Given the description of an element on the screen output the (x, y) to click on. 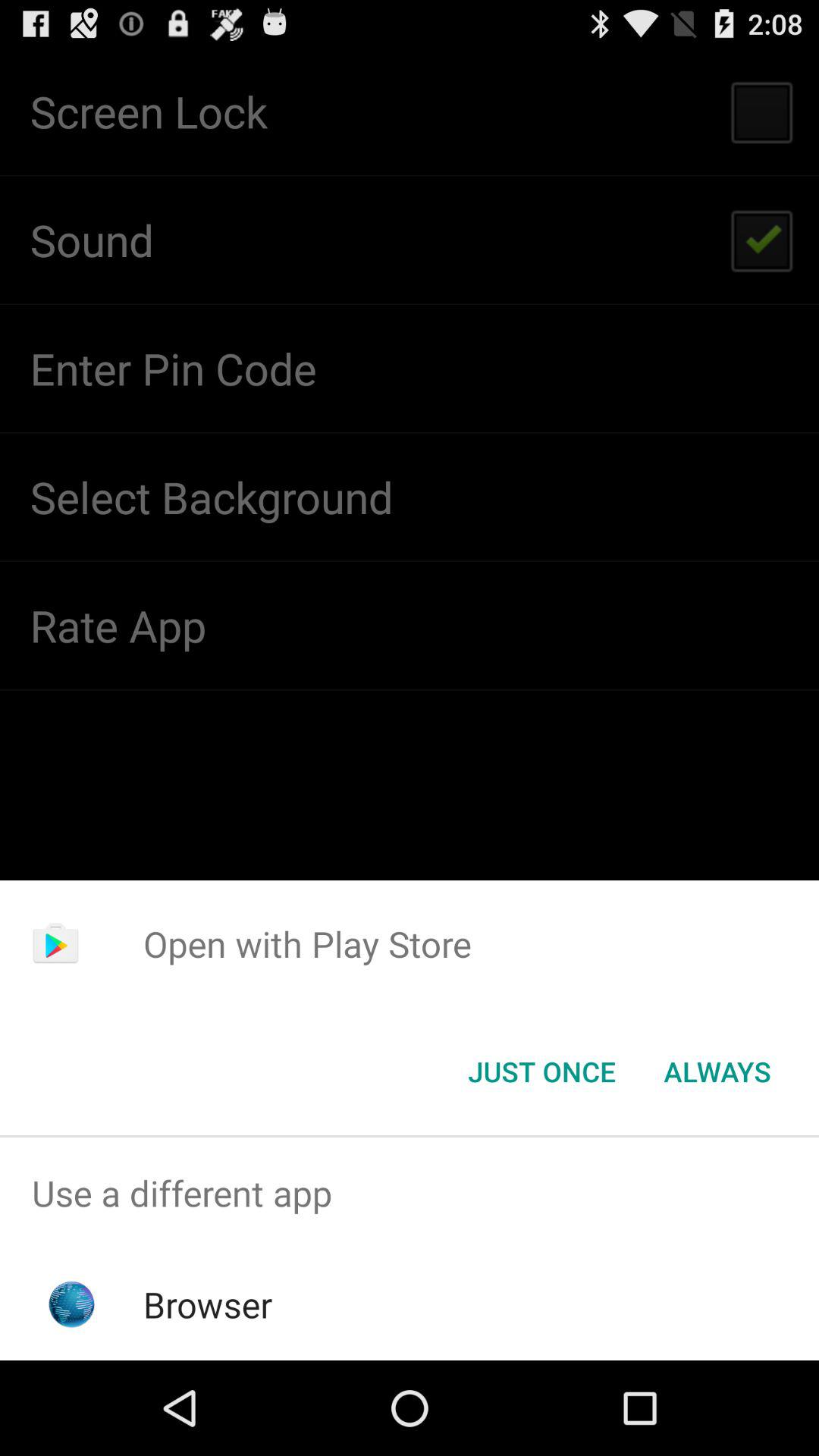
launch the browser app (207, 1304)
